Given the description of an element on the screen output the (x, y) to click on. 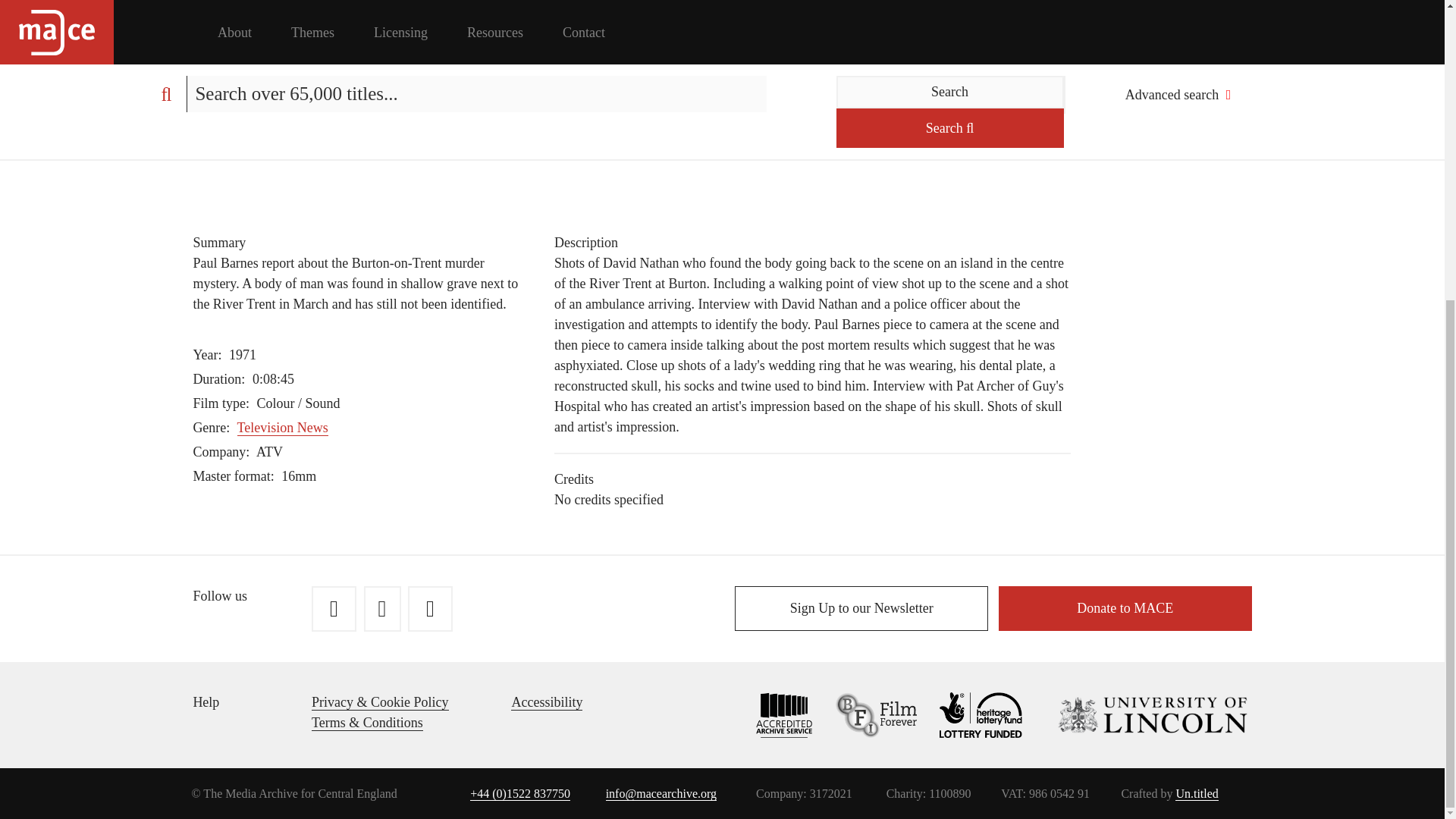
Sign Up to our Newsletter (861, 608)
Visit partner's site (864, 714)
Accessibility (546, 702)
Donate to MACE (1125, 608)
Television News (283, 427)
Visit partner's site (1137, 714)
Visit partner's site (969, 714)
Un.titled (1195, 793)
Visit partner's site (773, 714)
